Given the description of an element on the screen output the (x, y) to click on. 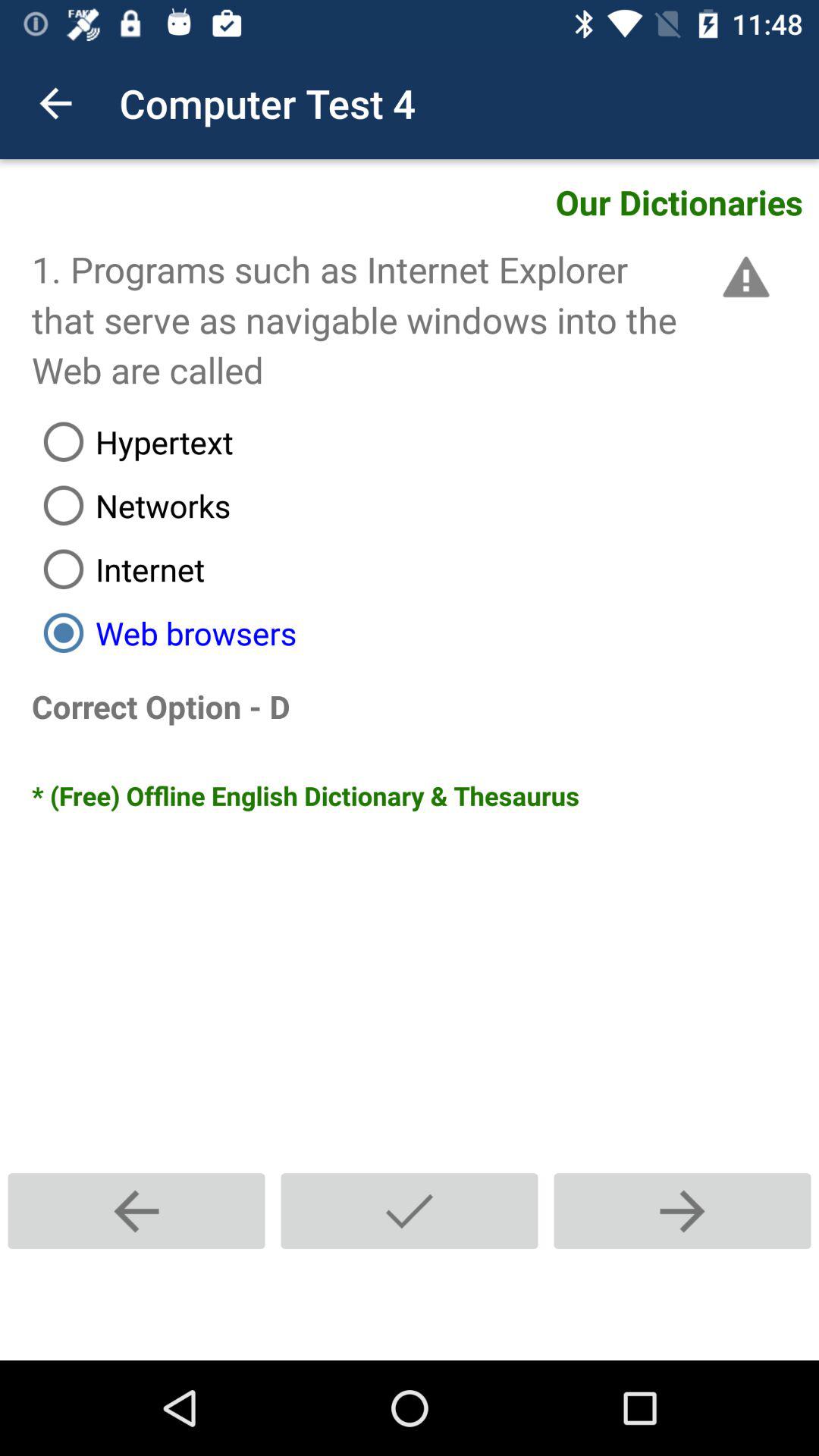
select item below the free offline english item (682, 1210)
